Given the description of an element on the screen output the (x, y) to click on. 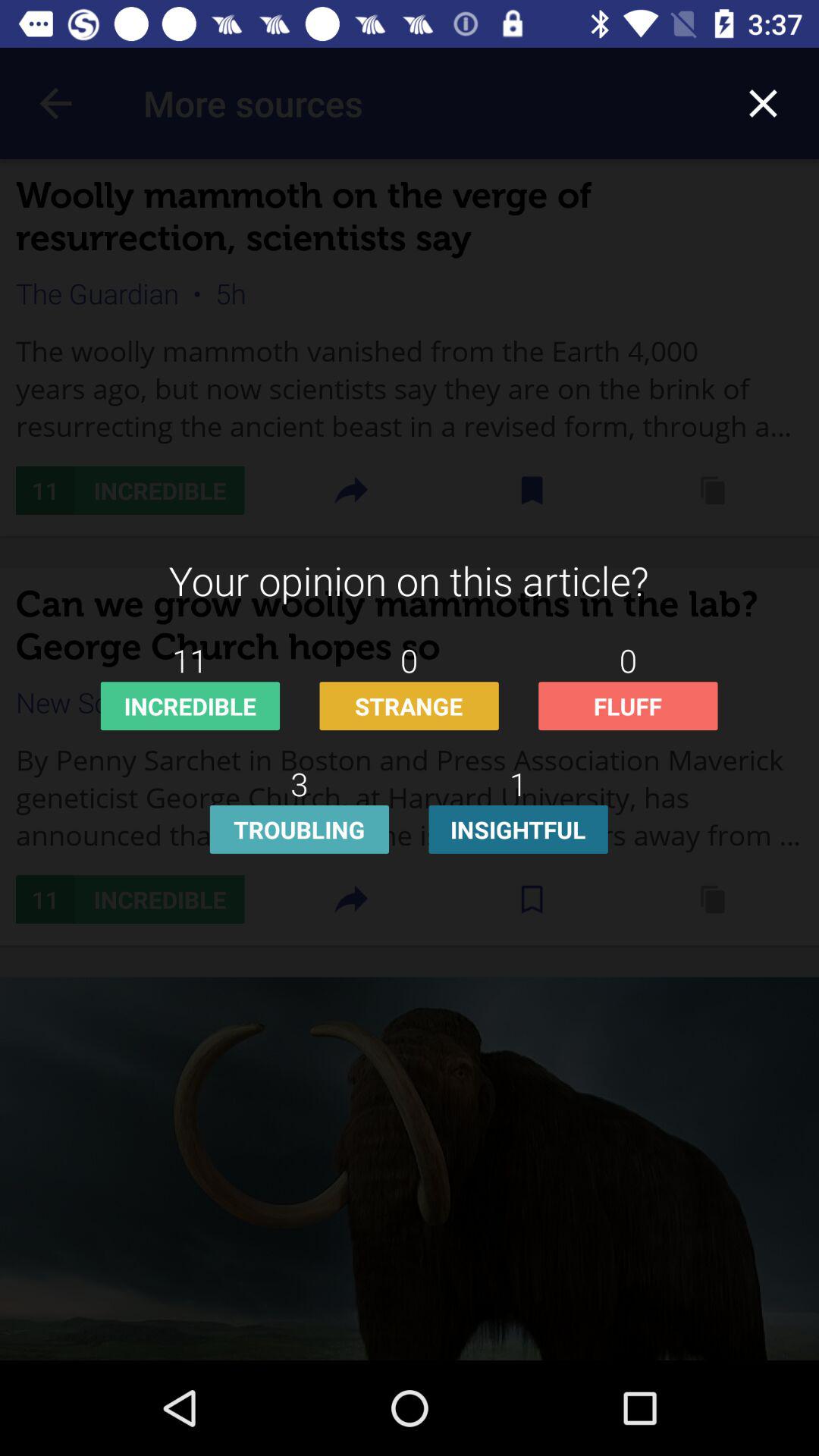
choose icon above the woolly mammoth on icon (55, 103)
